Given the description of an element on the screen output the (x, y) to click on. 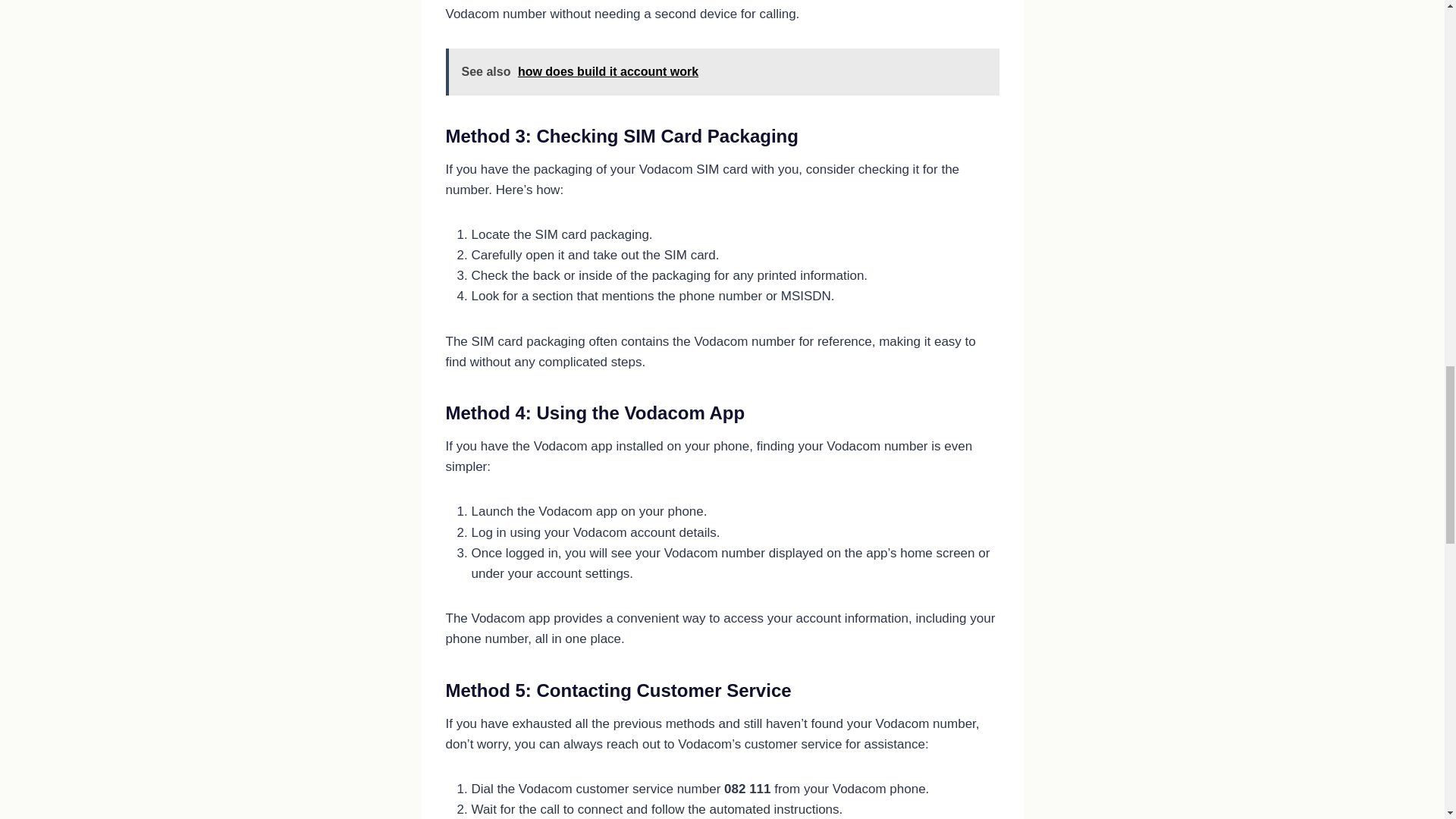
See also  how does build it account work (721, 71)
